Given the description of an element on the screen output the (x, y) to click on. 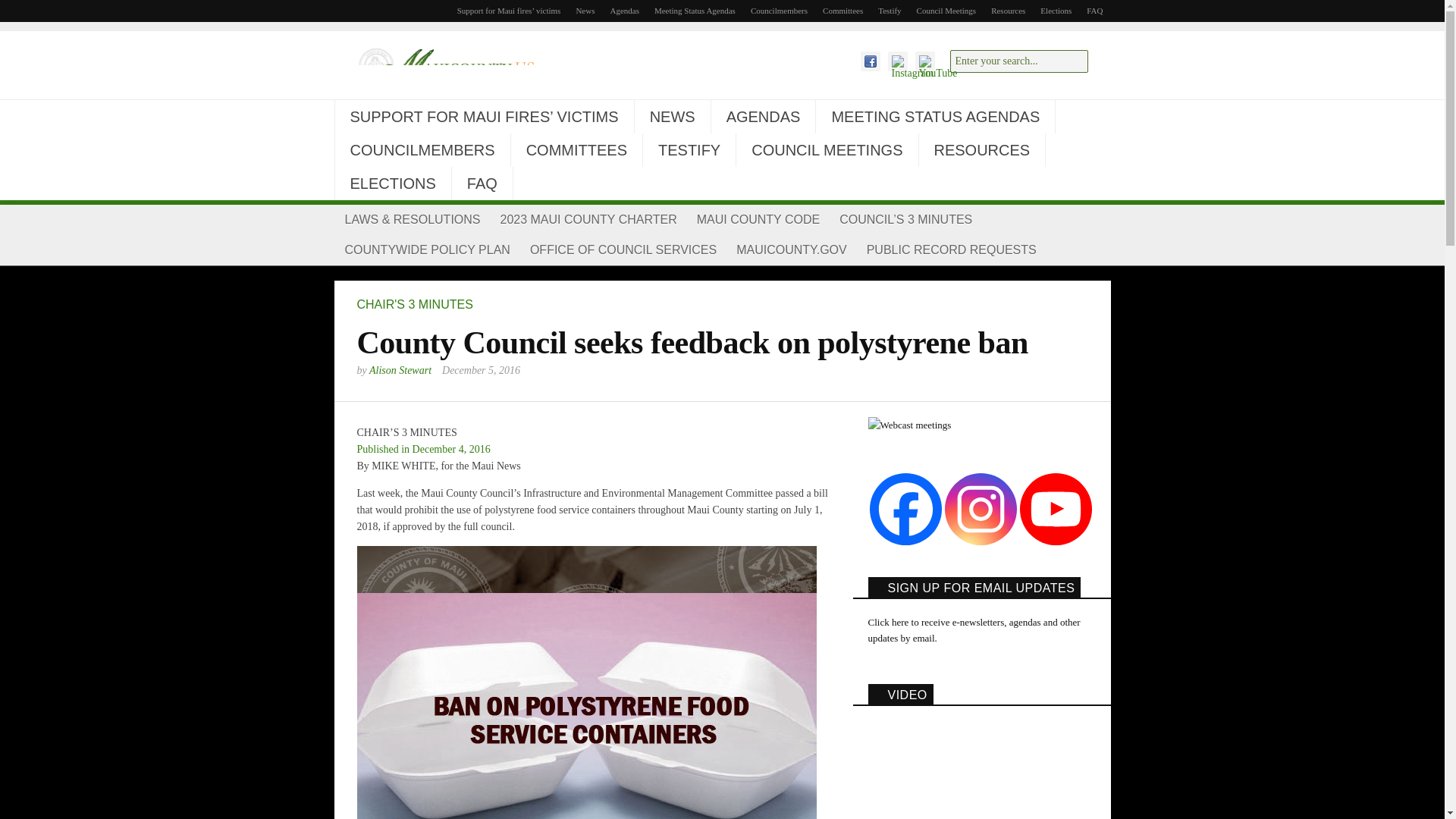
Facebook (904, 509)
Committees (842, 10)
Posts by Alison Stewart (399, 369)
Councilmembers (778, 10)
Meeting Status Agendas (694, 10)
Instagram (980, 509)
Testify (889, 10)
Council Meetings (946, 10)
Resources (1008, 10)
Youtube Channel (1054, 509)
